Given the description of an element on the screen output the (x, y) to click on. 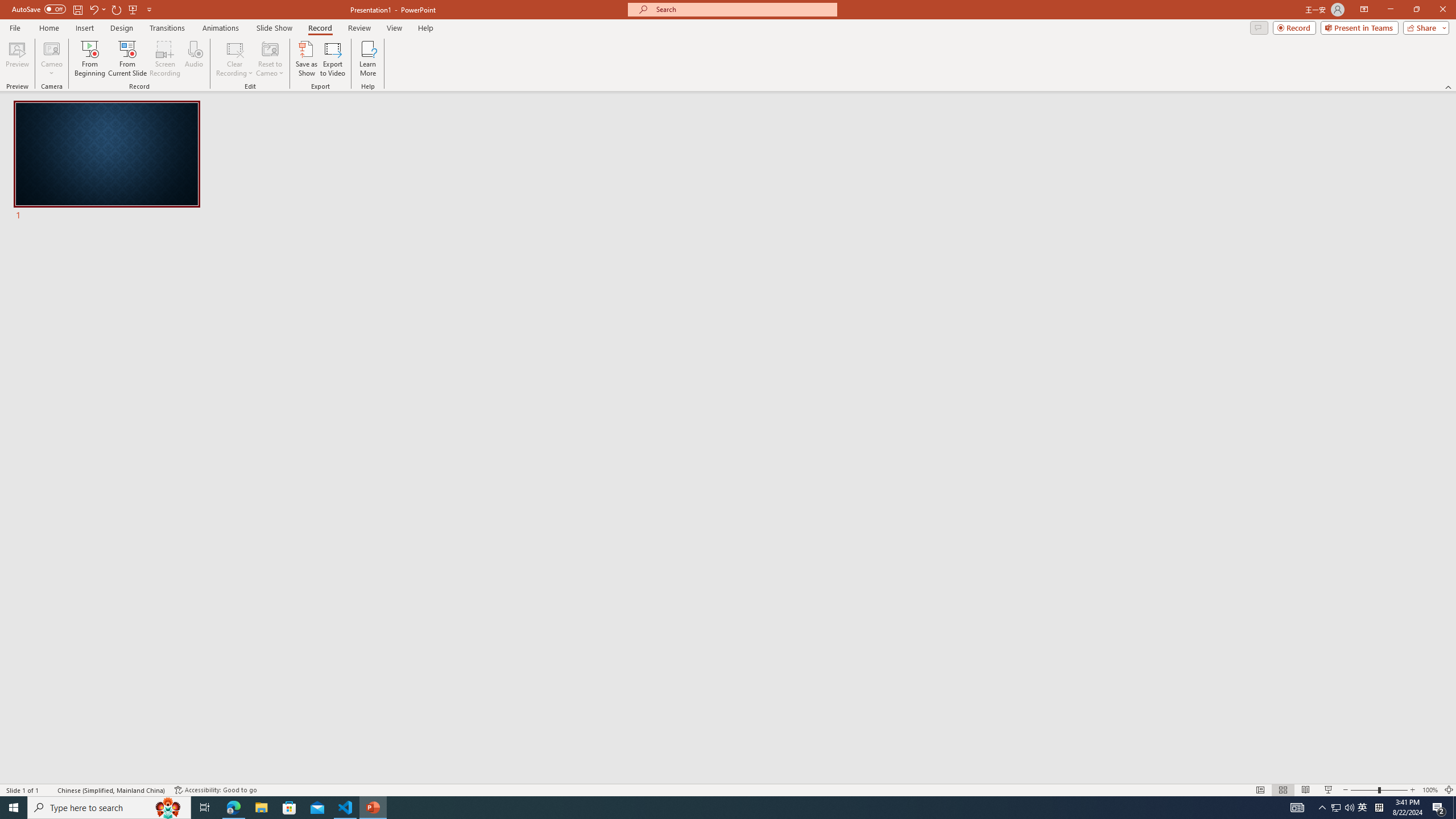
Spell Check  (49, 790)
